Given the description of an element on the screen output the (x, y) to click on. 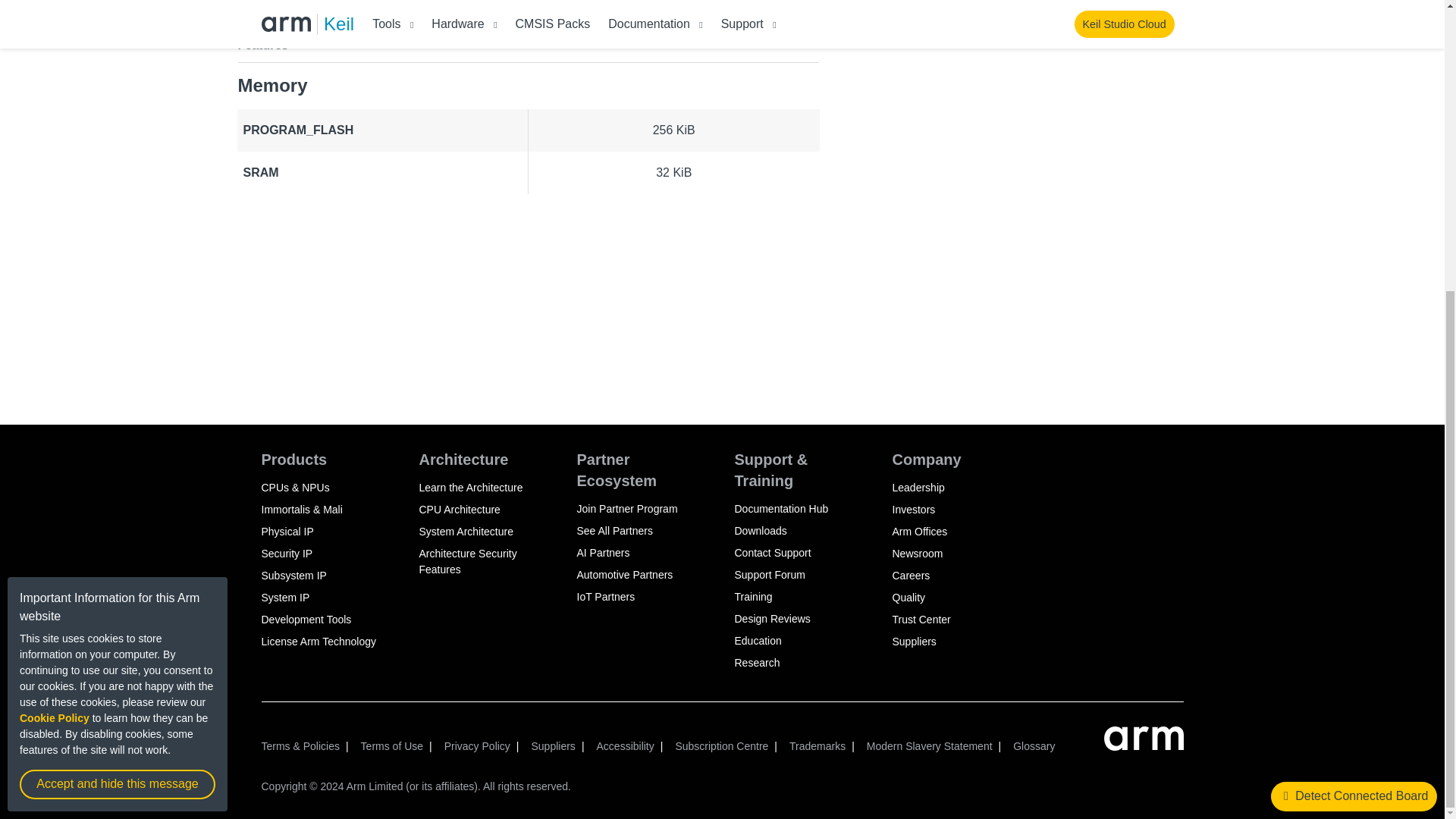
Accept and hide this message (117, 341)
Cookie Policy (54, 275)
Detect Connected Board (1354, 353)
